Given the description of an element on the screen output the (x, y) to click on. 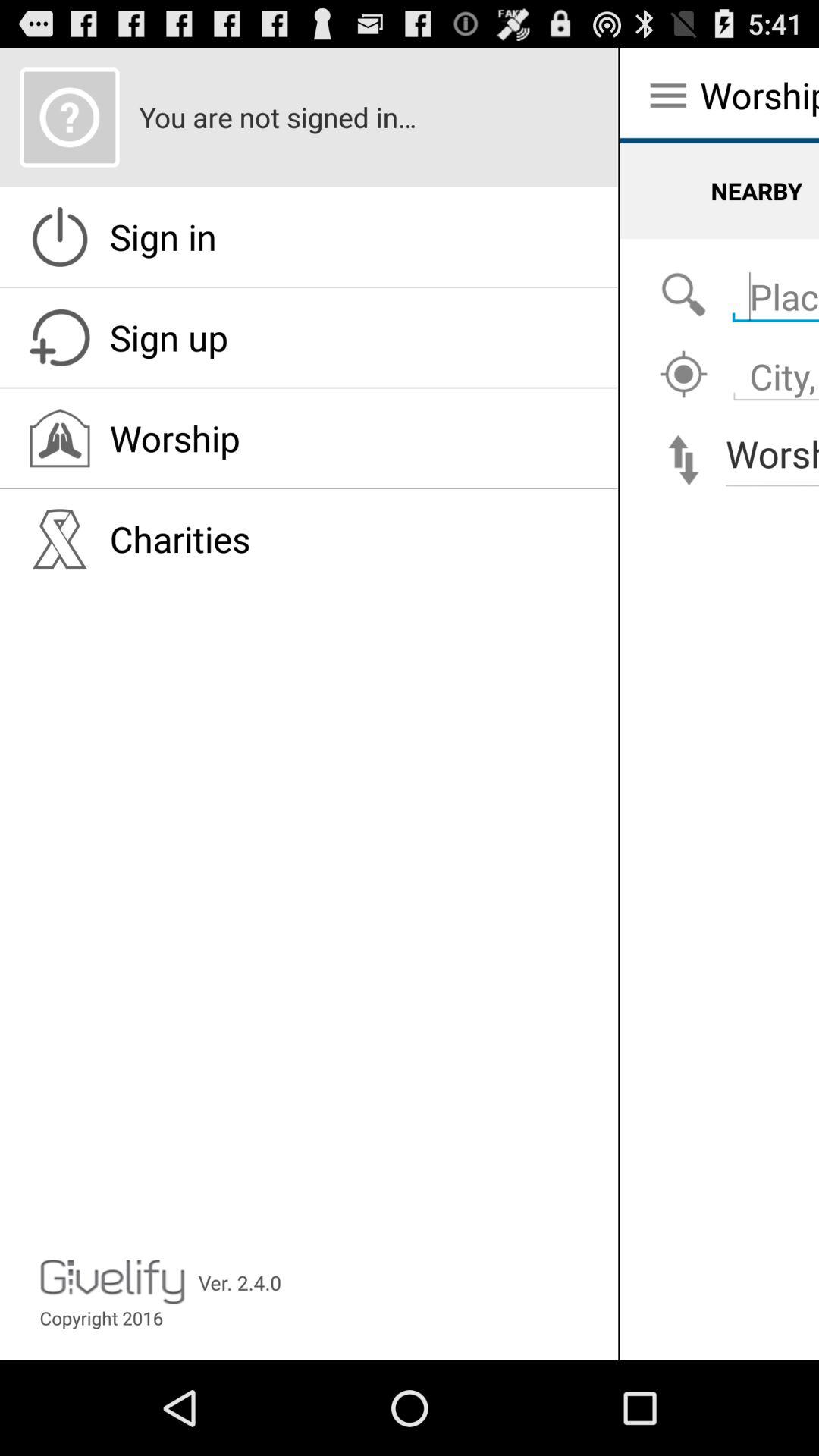
location city (683, 375)
